Given the description of an element on the screen output the (x, y) to click on. 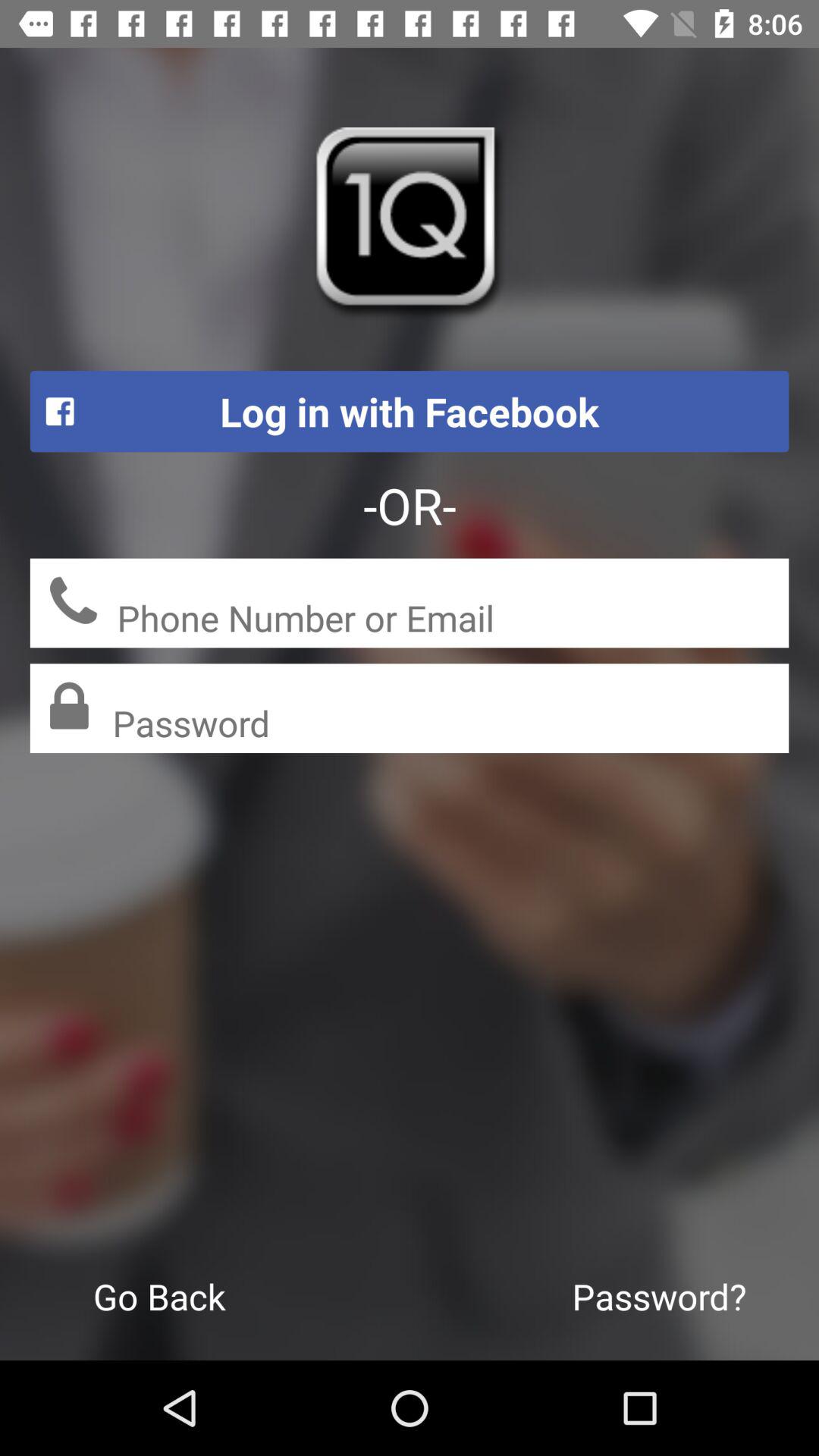
launch log in with (409, 411)
